Given the description of an element on the screen output the (x, y) to click on. 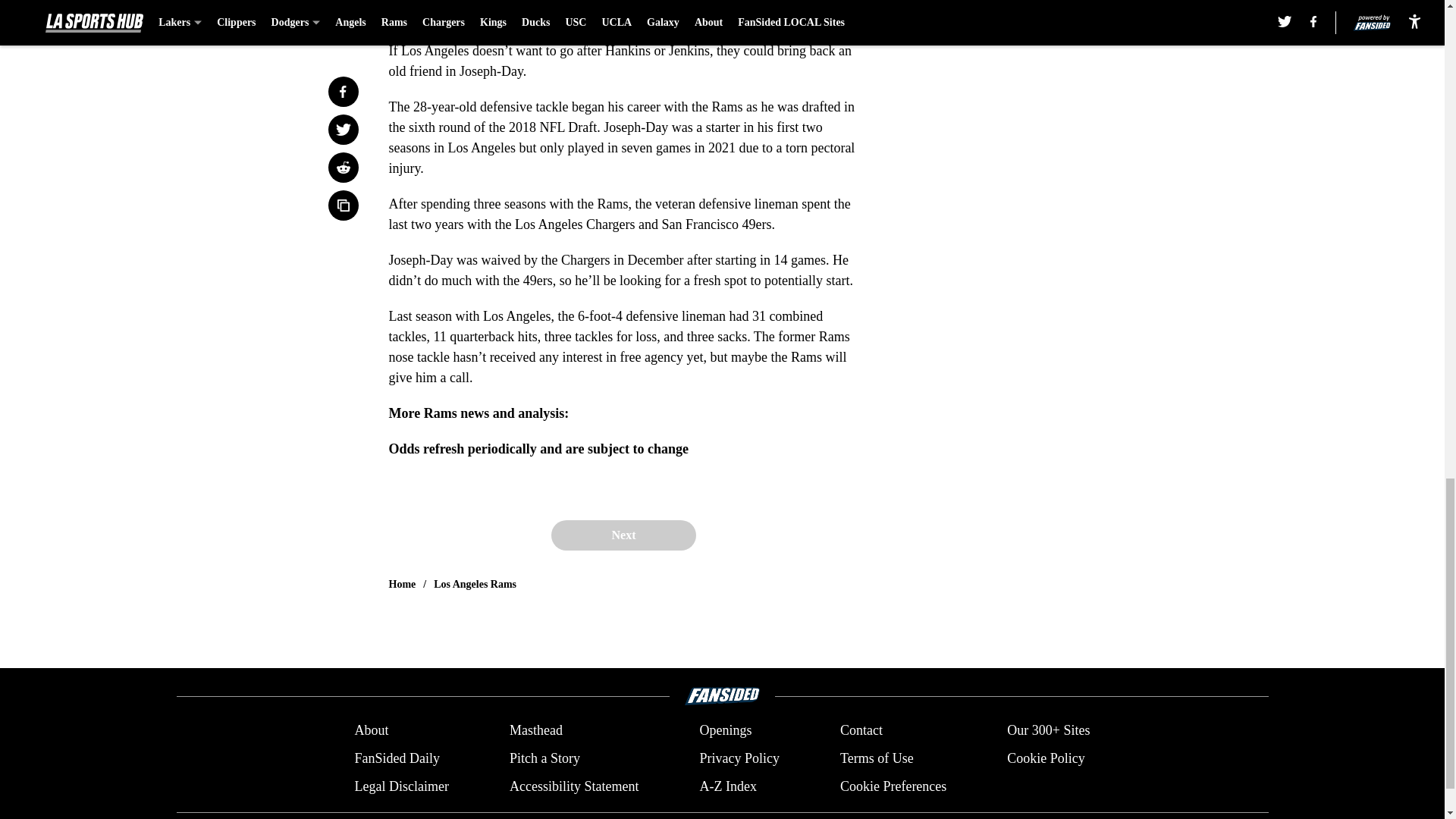
About (370, 730)
Next (622, 535)
Openings (724, 730)
Home (401, 584)
Los Angeles Rams (474, 584)
Contact (861, 730)
Masthead (535, 730)
FanSided Daily (396, 758)
